Given the description of an element on the screen output the (x, y) to click on. 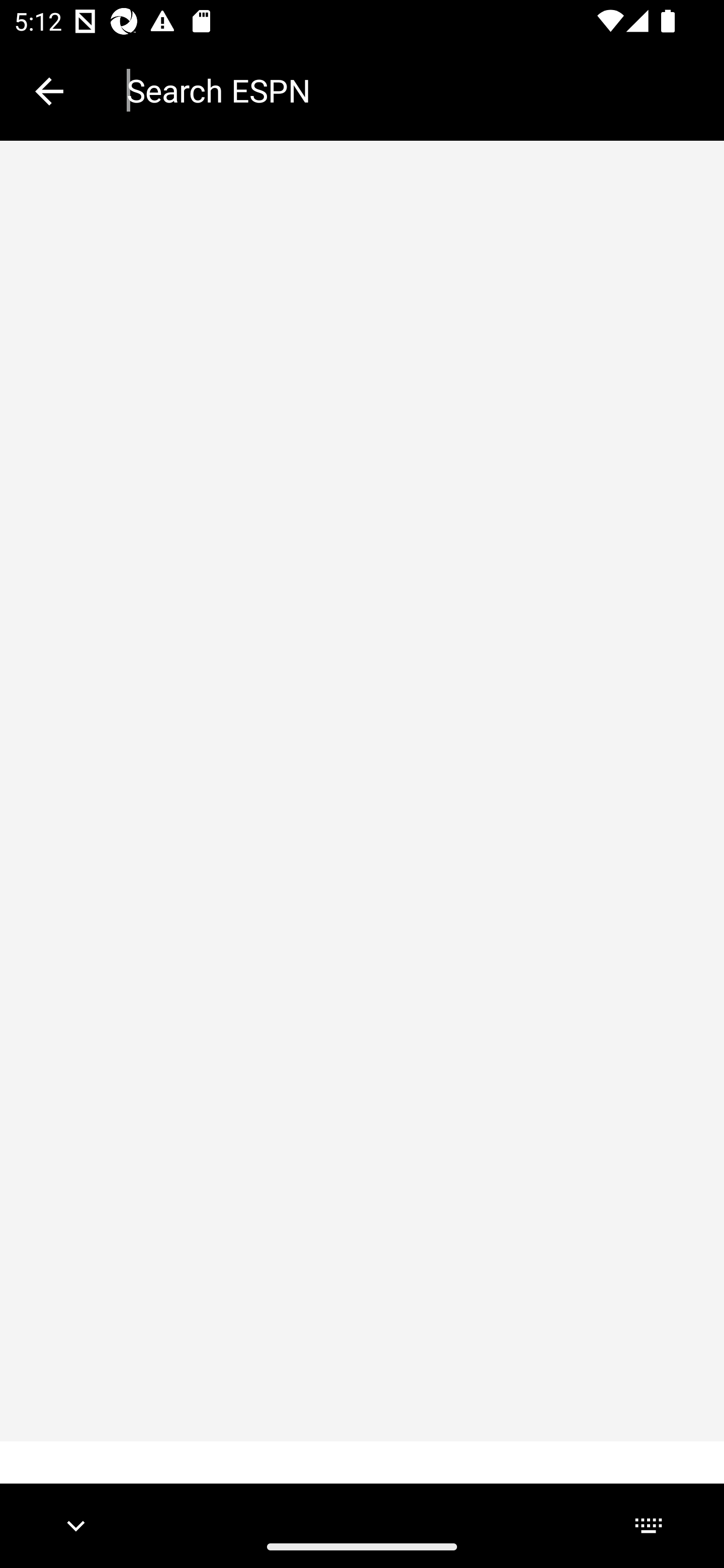
Collapse (49, 91)
Search ESPN (411, 90)
